Given the description of an element on the screen output the (x, y) to click on. 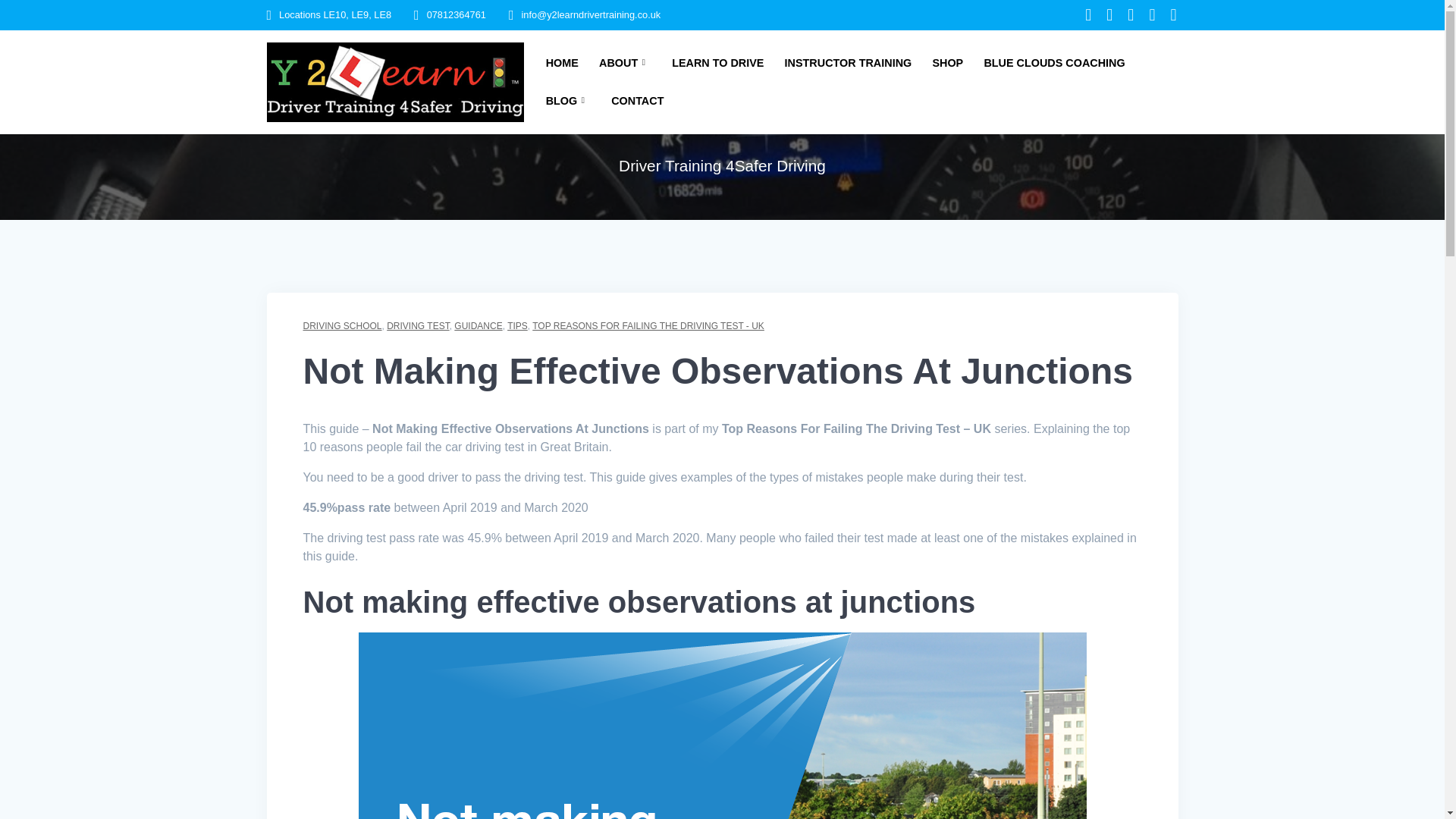
BLUE CLOUDS COACHING (1054, 63)
CONTACT (637, 100)
TOP REASONS FOR FAILING THE DRIVING TEST - UK (648, 326)
LEARN TO DRIVE (716, 63)
BLOG (568, 100)
HOME (562, 63)
ABOUT (624, 63)
GUIDANCE (478, 326)
TIPS (516, 326)
DRIVING SCHOOL (341, 326)
